Given the description of an element on the screen output the (x, y) to click on. 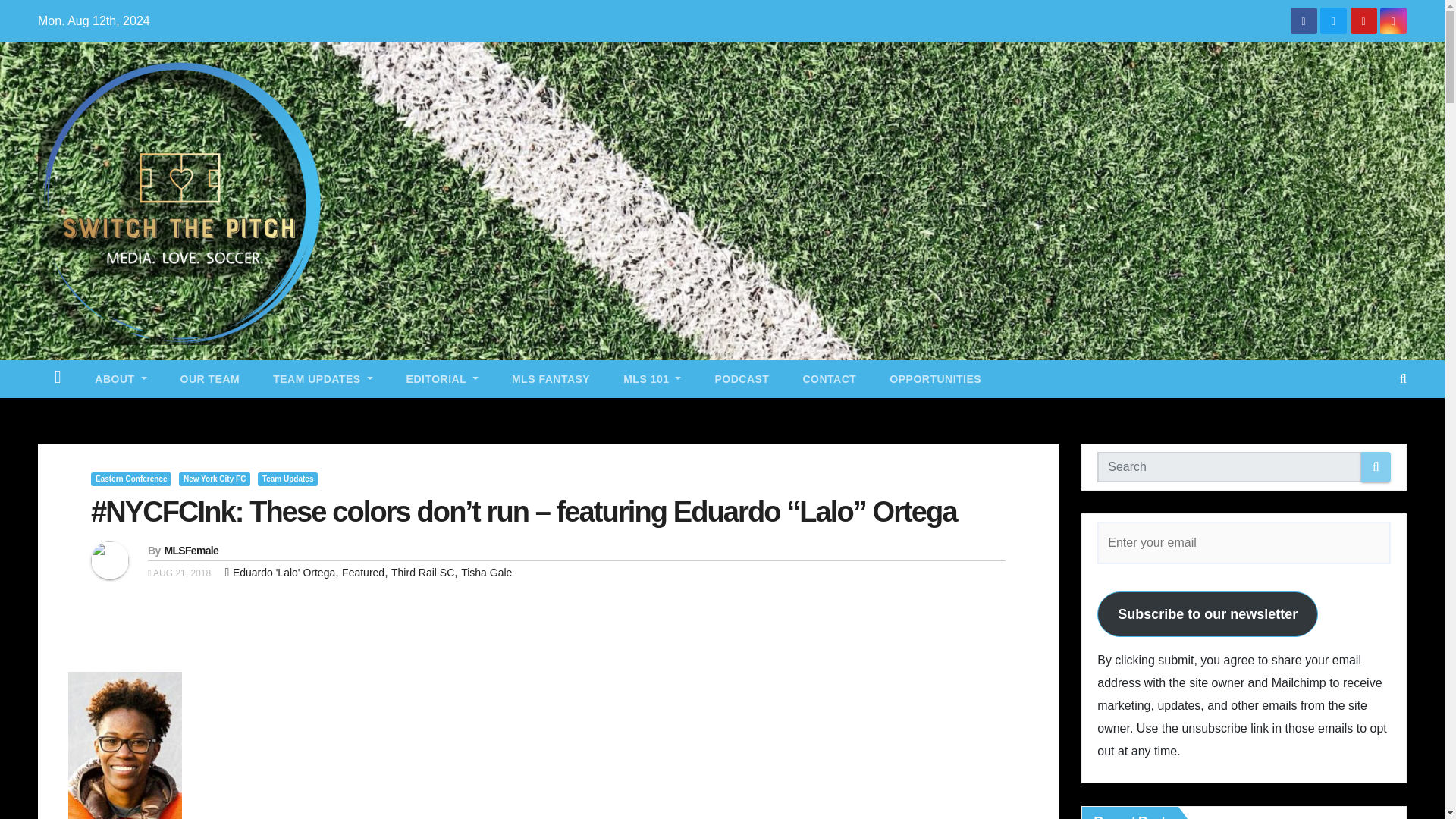
OUR TEAM (210, 379)
About (120, 379)
ABOUT (120, 379)
TEAM UPDATES (322, 379)
Our Team (210, 379)
Home (57, 379)
Team Updates (322, 379)
